Given the description of an element on the screen output the (x, y) to click on. 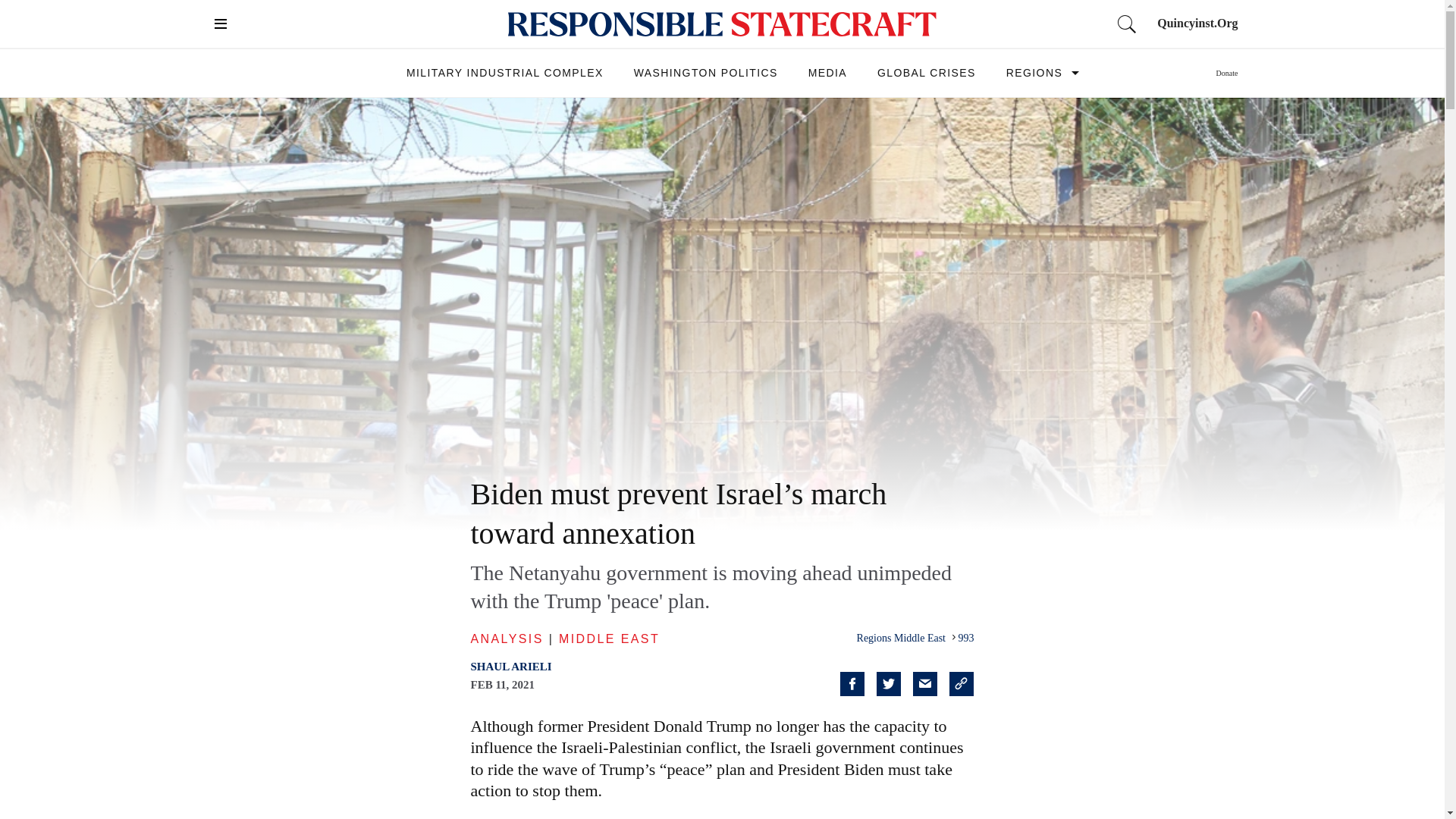
ANALYSIS (506, 638)
Primary Category (903, 637)
MIDDLE EAST (609, 638)
GLOBAL CRISES (926, 72)
Primary Tag (966, 637)
WASHINGTON POLITICS (705, 72)
Donate (1227, 72)
MEDIA (827, 72)
Quincyinst.Org (1197, 22)
REGIONS (1034, 72)
MILITARY INDUSTRIAL COMPLEX (505, 72)
Copy this link to clipboard (961, 683)
